Given the description of an element on the screen output the (x, y) to click on. 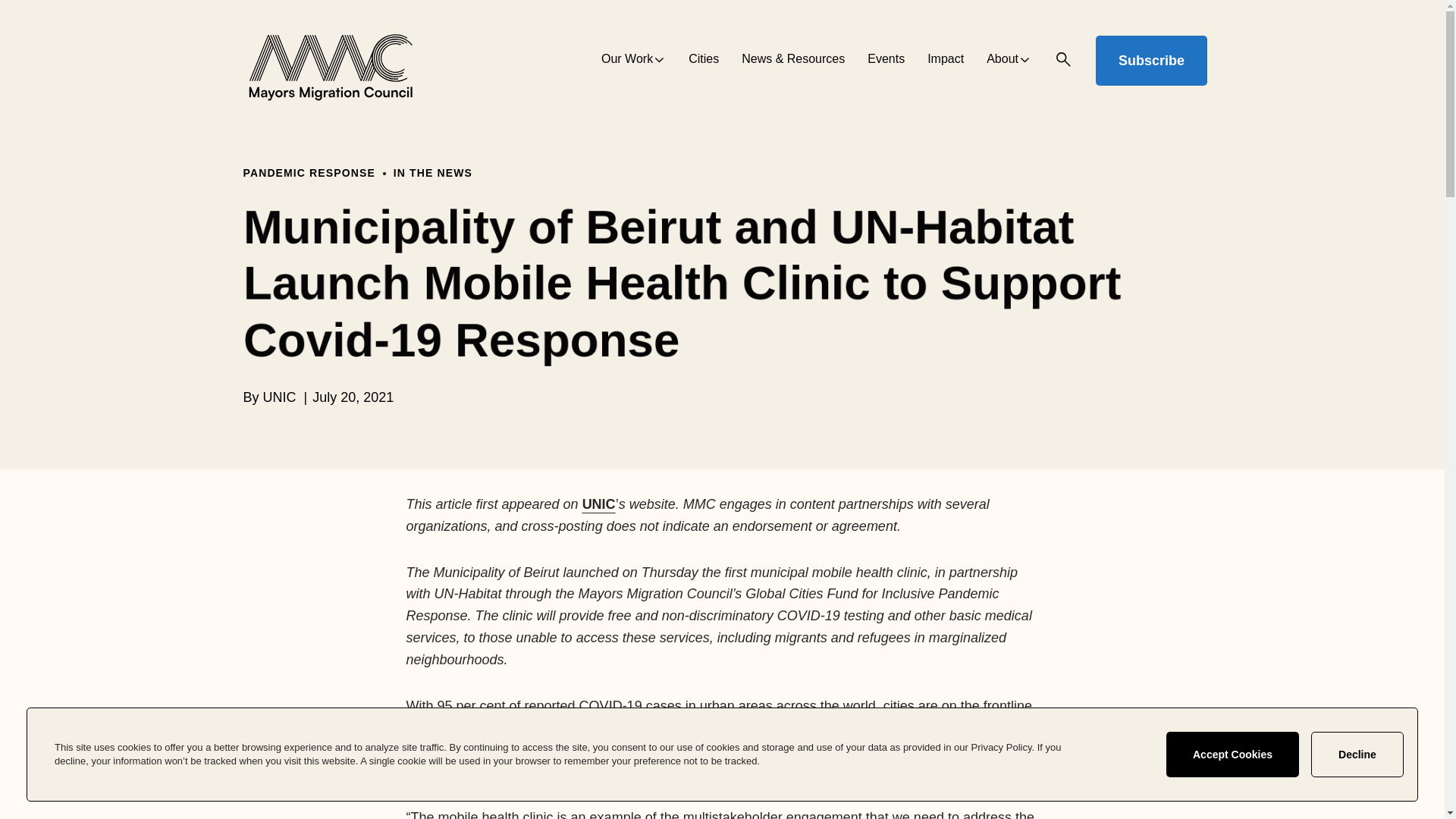
UNIC (598, 503)
Cities (703, 60)
Accept Cookies (1232, 754)
Subscribe (1151, 60)
Impact (945, 60)
Decline (1357, 754)
About (1008, 60)
Events (885, 60)
Our Work (633, 60)
